Given the description of an element on the screen output the (x, y) to click on. 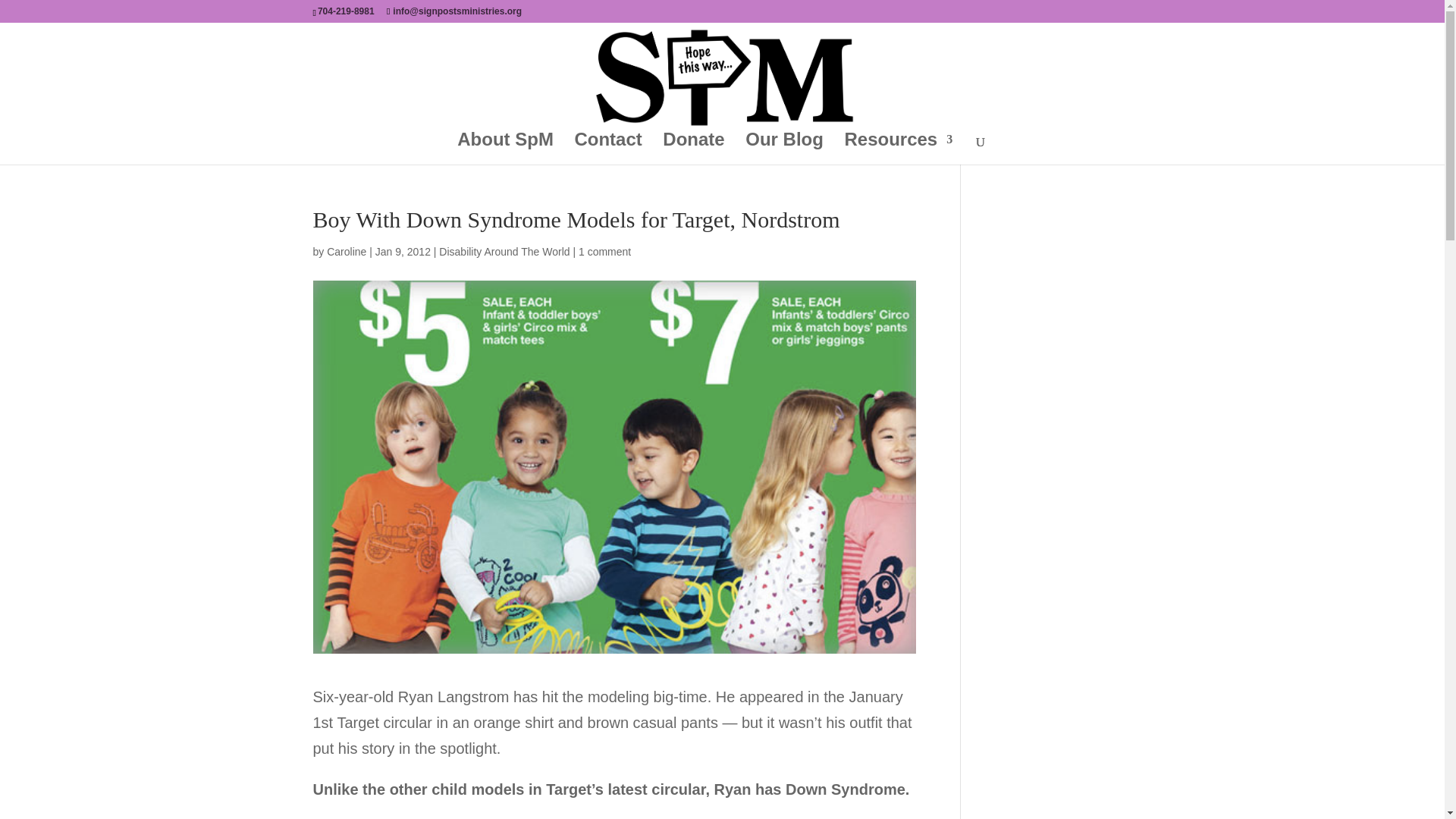
About SpM (505, 149)
Disability Around The World (504, 251)
1 comment (604, 251)
Donate (692, 149)
Resources (898, 149)
Contact (607, 149)
Caroline (346, 251)
Our Blog (784, 149)
Posts by Caroline (346, 251)
